Given the description of an element on the screen output the (x, y) to click on. 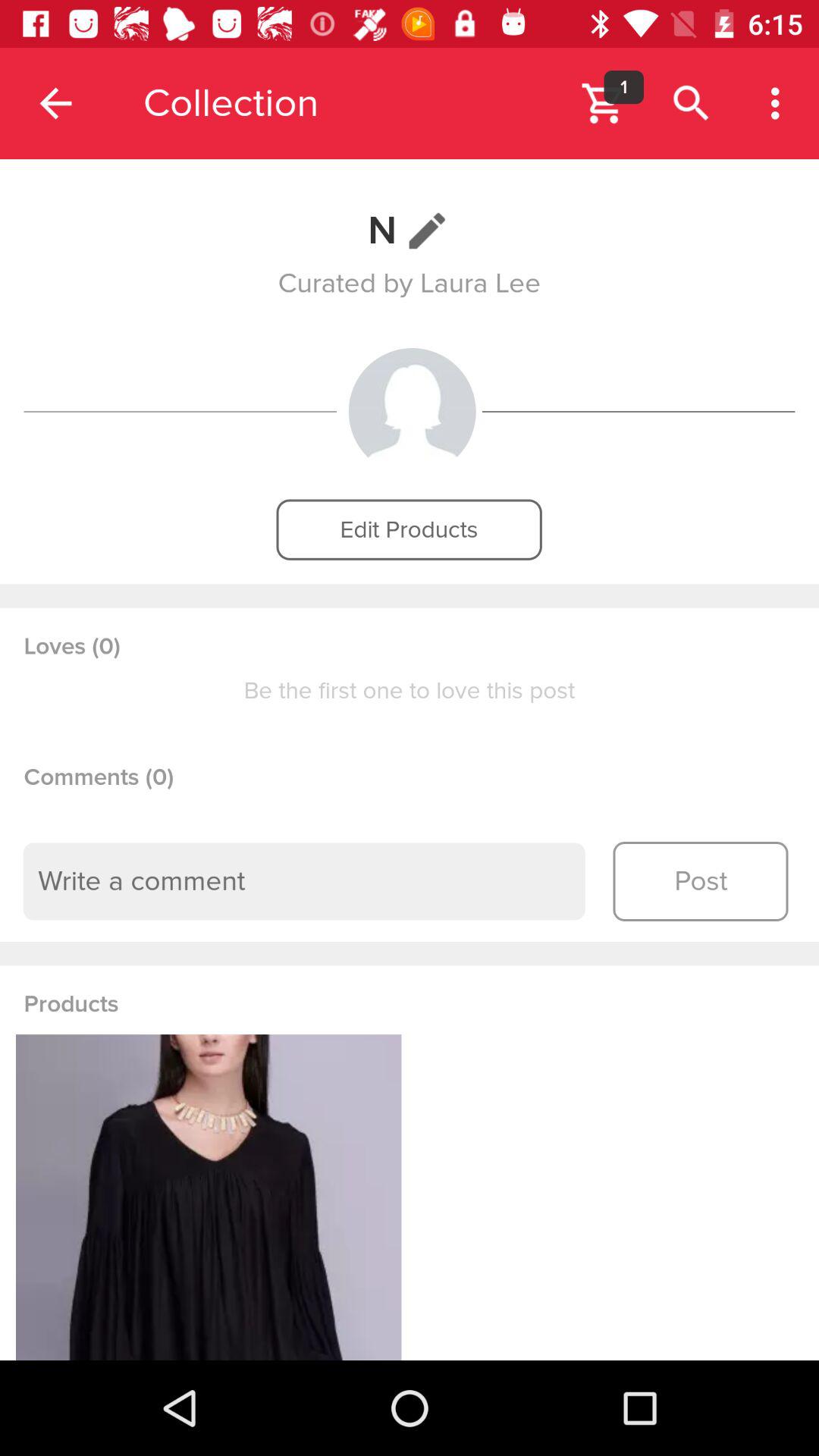
choose the icon below the comments (0) icon (304, 881)
